Given the description of an element on the screen output the (x, y) to click on. 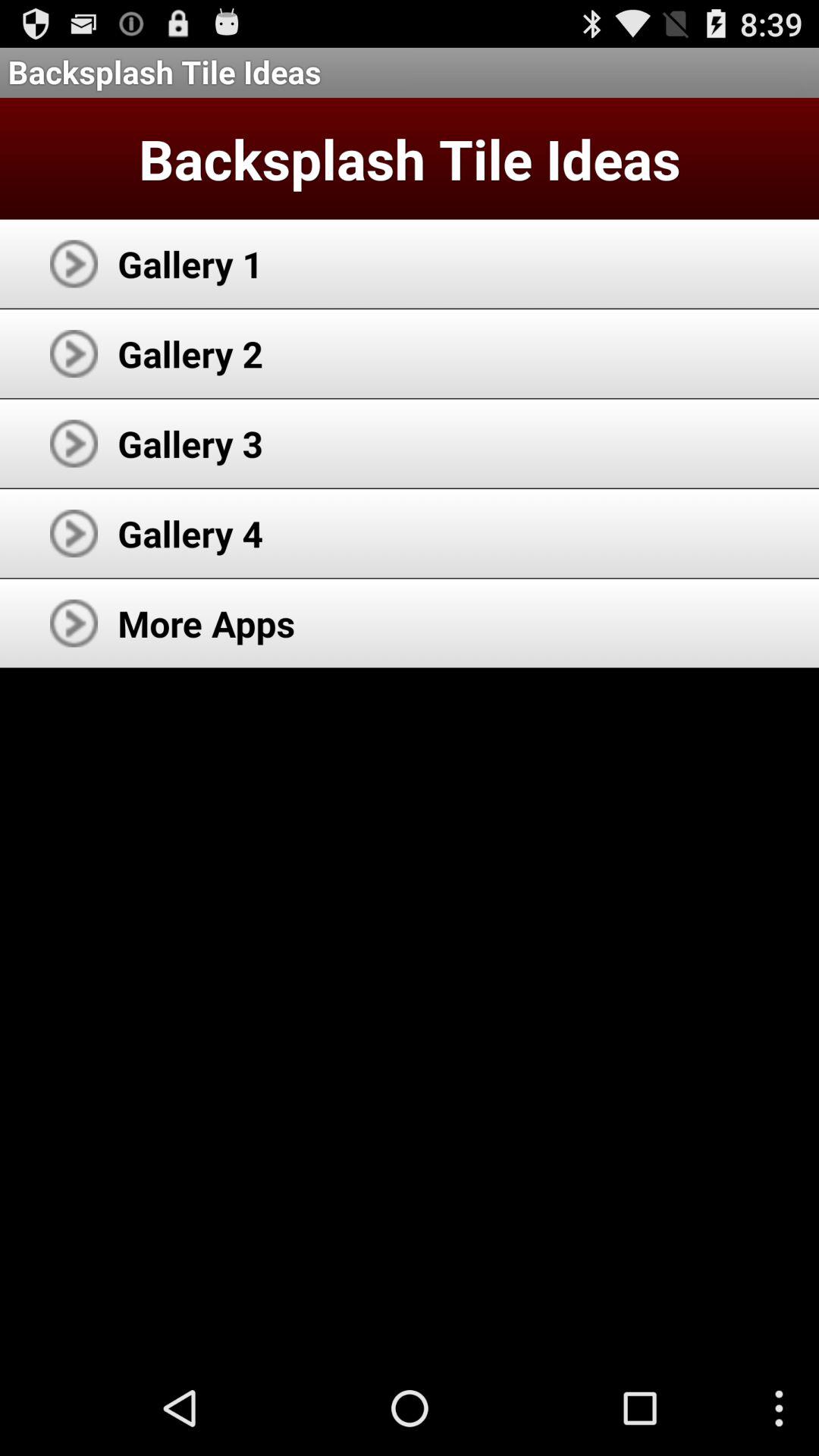
jump until the gallery 1 app (190, 263)
